Given the description of an element on the screen output the (x, y) to click on. 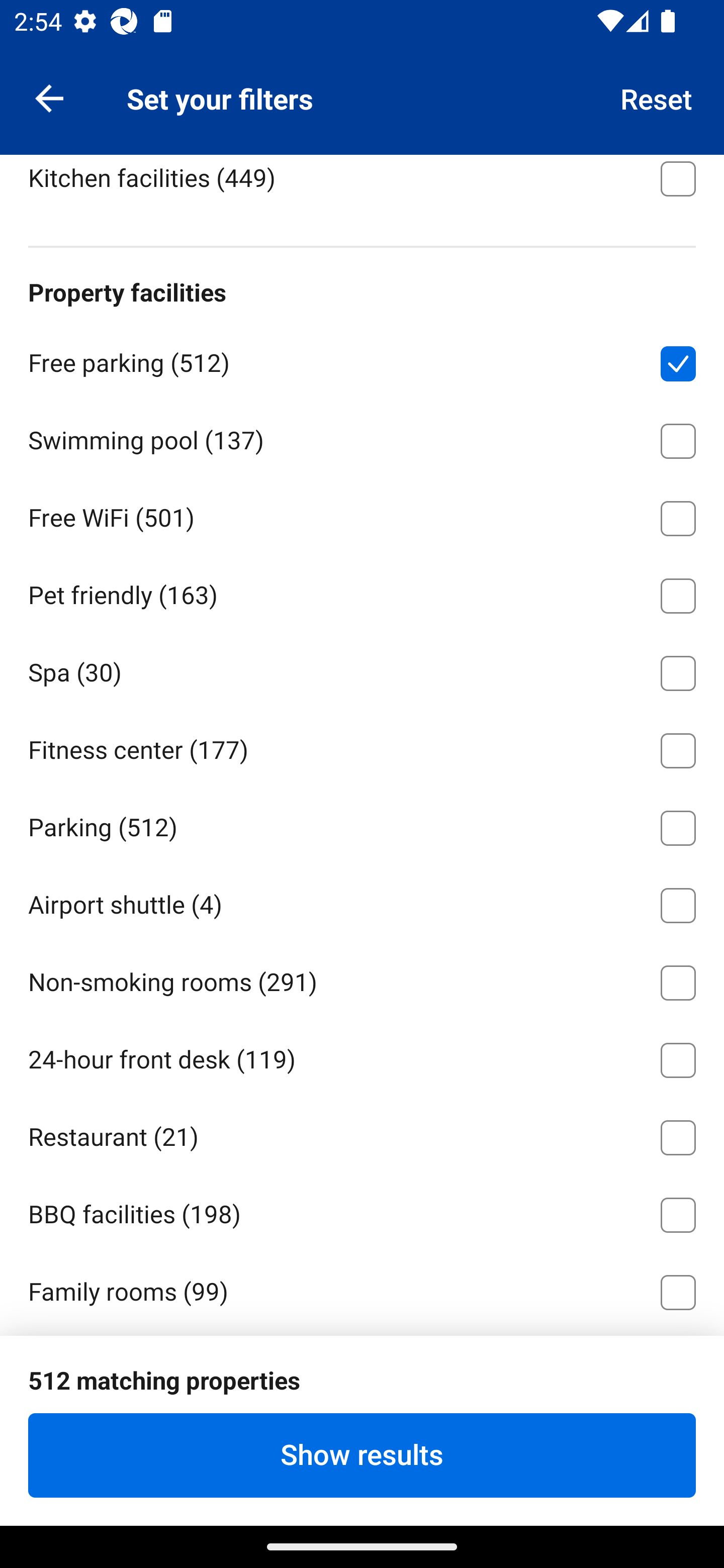
Navigate up (49, 97)
Breakfast Included ⁦(21) (361, 97)
Reset (656, 97)
Kitchen facilities ⁦(449) (361, 186)
Free parking ⁦(512) (361, 359)
Swimming pool ⁦(137) (361, 437)
Free WiFi ⁦(501) (361, 514)
Pet friendly ⁦(163) (361, 592)
Spa ⁦(30) (361, 669)
Fitness center ⁦(177) (361, 746)
Parking ⁦(512) (361, 824)
Airport shuttle ⁦(4) (361, 901)
Non-smoking rooms ⁦(291) (361, 978)
24-hour front desk ⁦(119) (361, 1056)
Restaurant ⁦(21) (361, 1134)
BBQ facilities ⁦(198) (361, 1210)
Family rooms ⁦(99) (361, 1288)
Show results (361, 1454)
